Given the description of an element on the screen output the (x, y) to click on. 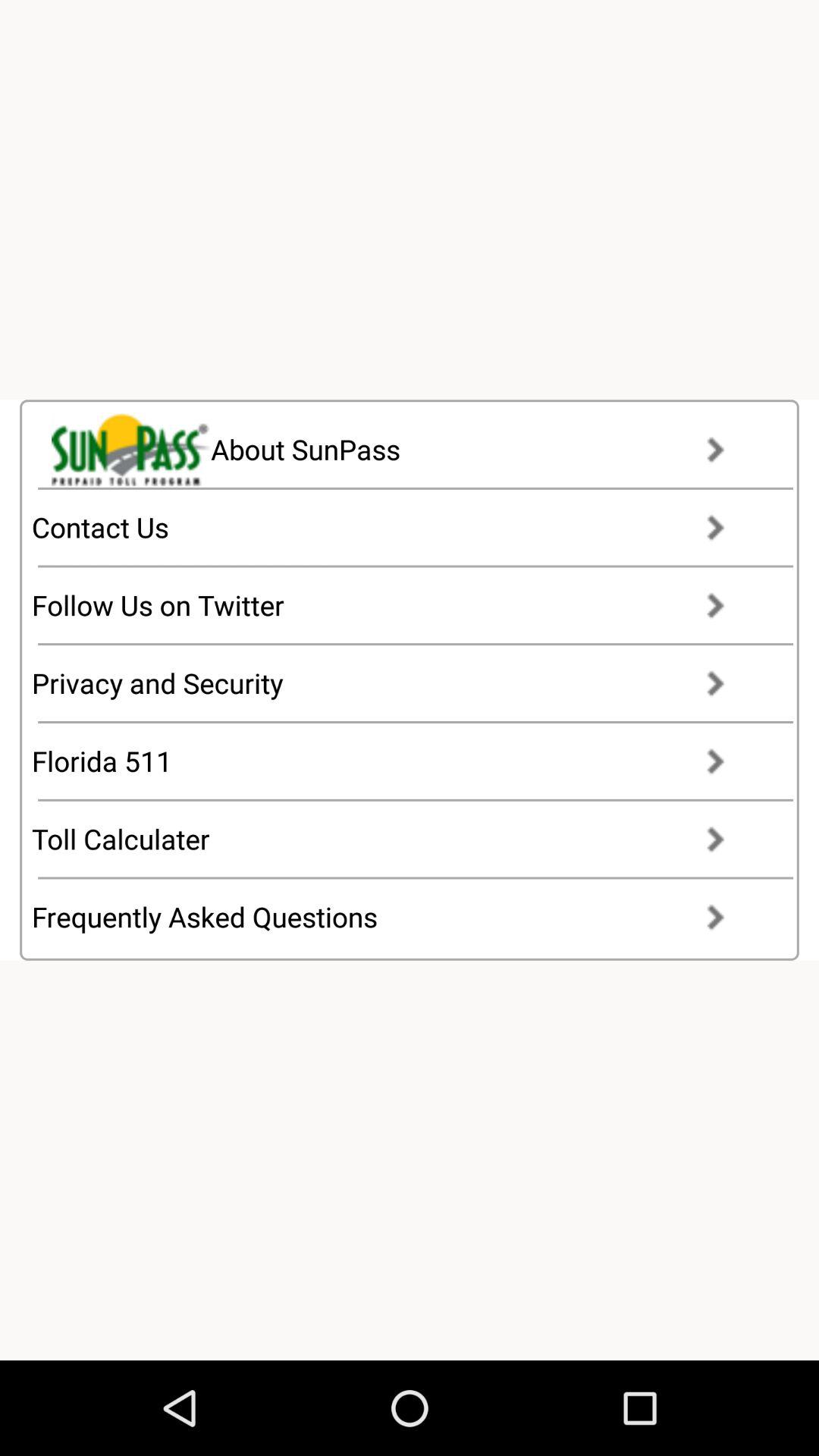
open the privacy and security button (392, 683)
